Given the description of an element on the screen output the (x, y) to click on. 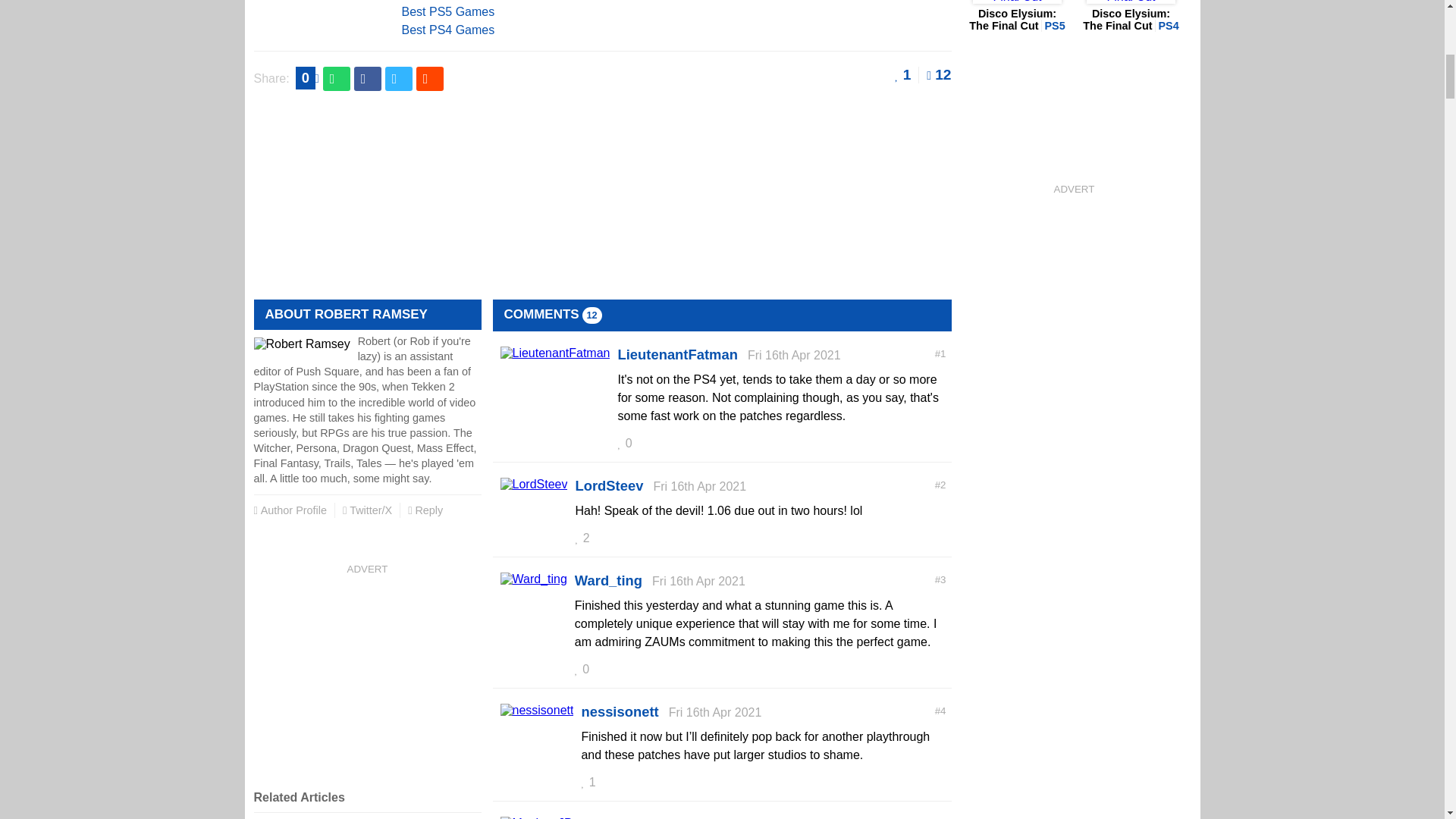
Share this on Facebook (367, 78)
Share this on WhatsApp (336, 78)
